Given the description of an element on the screen output the (x, y) to click on. 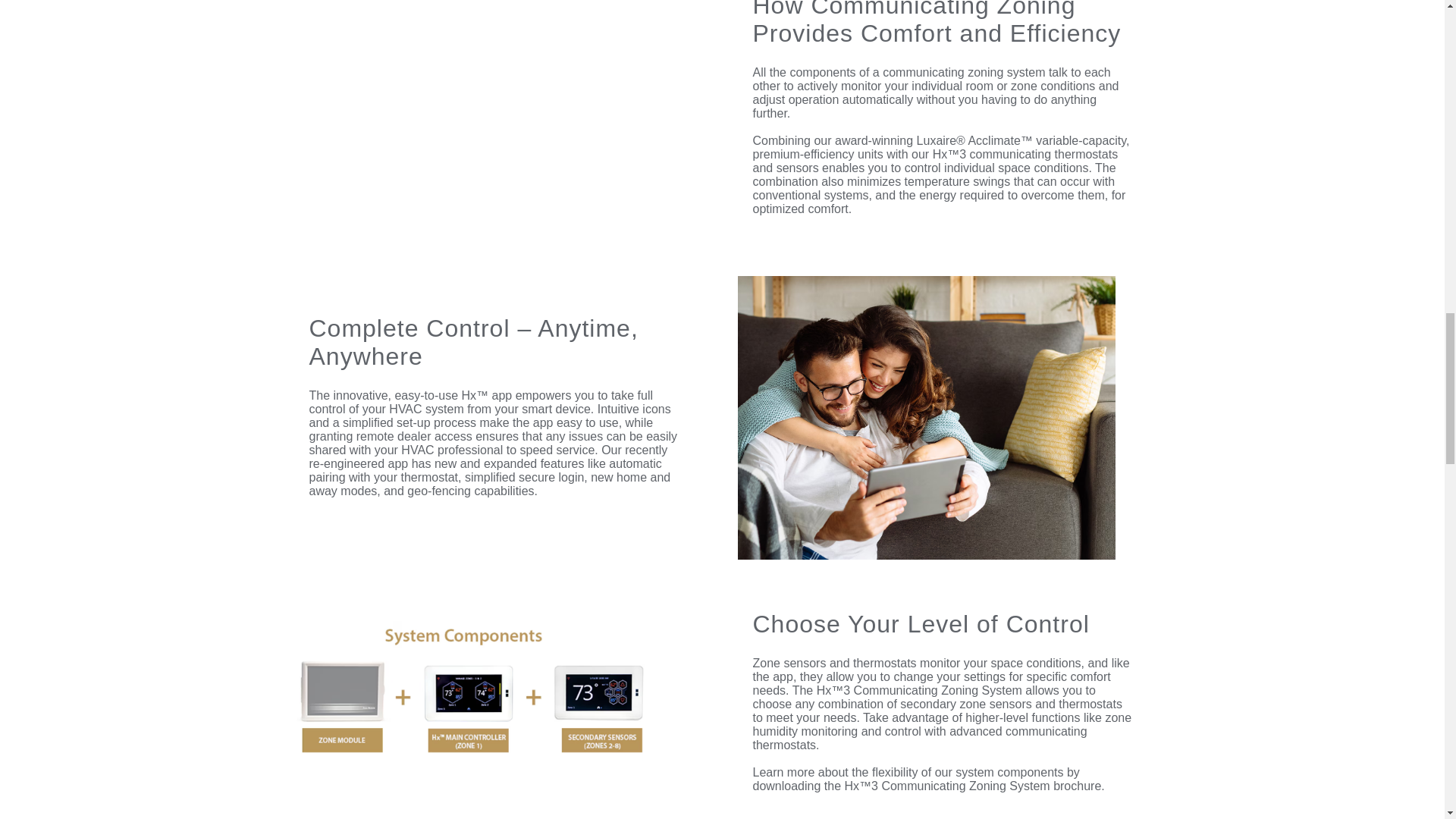
How Communicating Zoning Provides Comfort and Efficiency (500, 119)
